Given the description of an element on the screen output the (x, y) to click on. 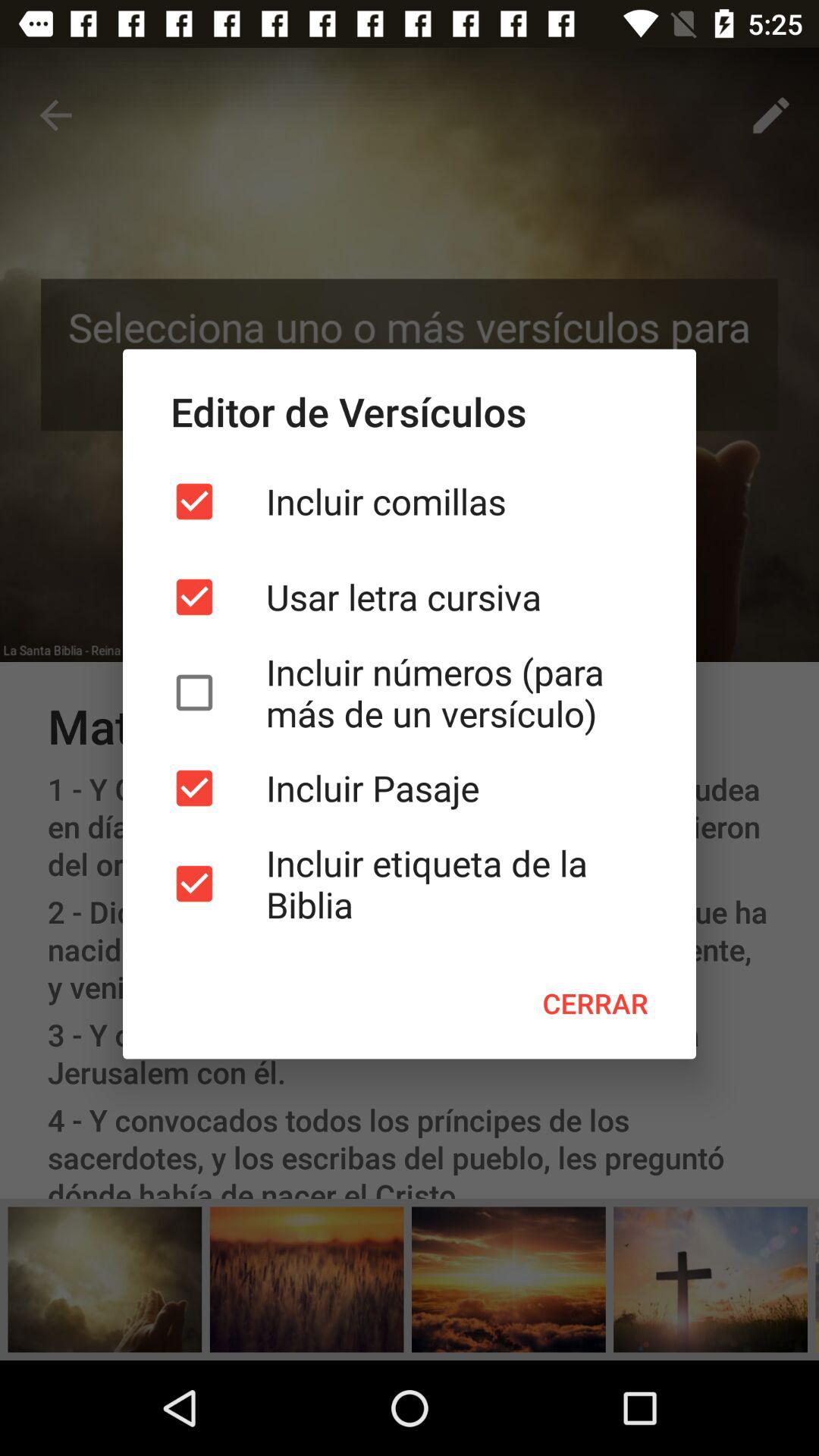
select the usar letra cursiva item (409, 596)
